Given the description of an element on the screen output the (x, y) to click on. 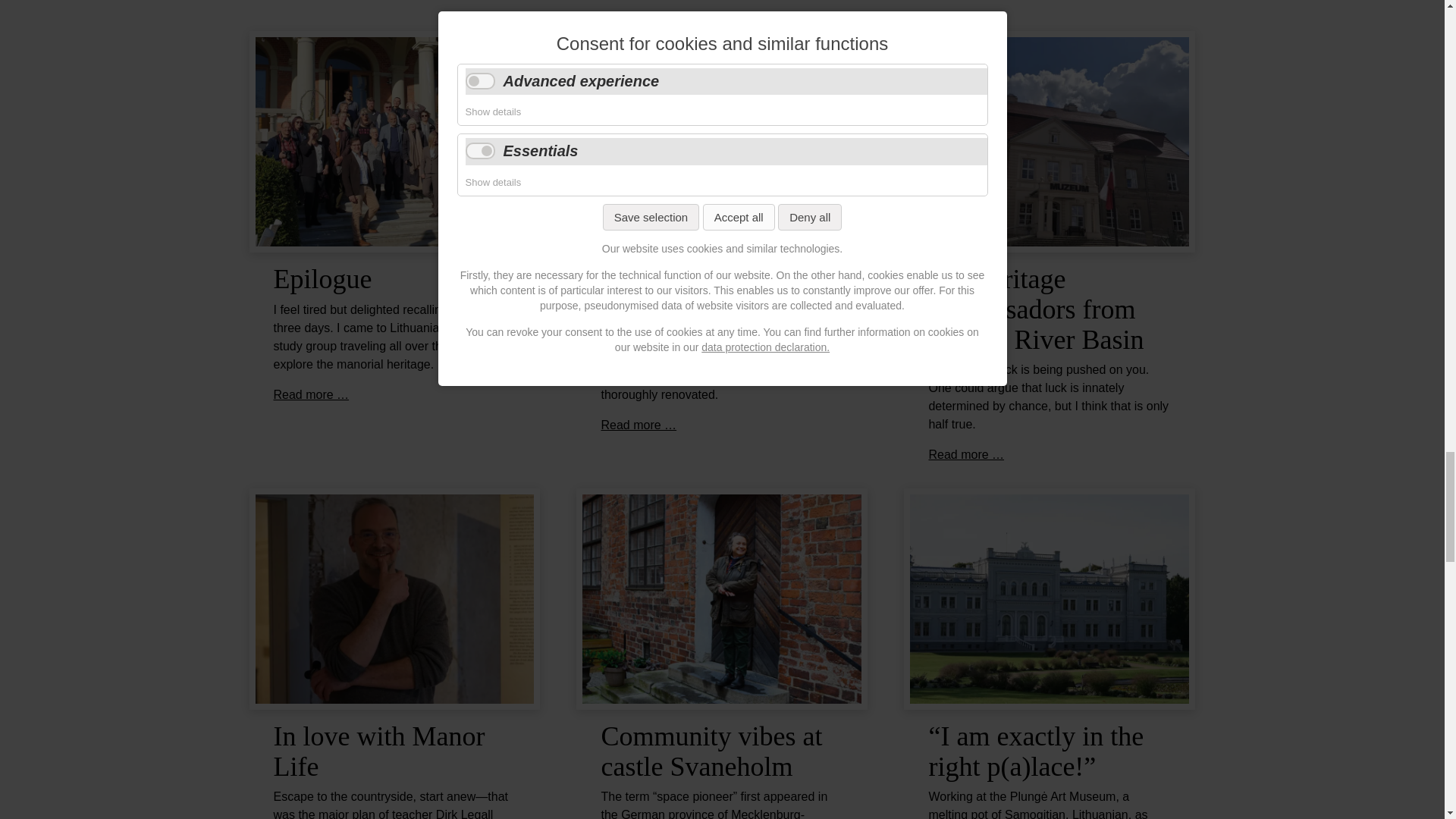
Read the article: Epilogue (311, 394)
Read the article: Epilogue (322, 278)
Community vibes at castle Svaneholm (710, 751)
In love with Manor Life (378, 751)
Read the article: In love with Manor Life (394, 597)
Read the article: Community vibes at castle Svaneholm (721, 597)
Read the article: Community vibes at castle Svaneholm (710, 751)
Read the article: In love with Manor Life (378, 751)
Read the article: The iron heart of Pederstrup Manor (638, 424)
The iron heart of Pederstrup Manor (697, 293)
Epilogue (322, 278)
The heritage Ambassadors from Parseta River Basin (1035, 308)
